Given the description of an element on the screen output the (x, y) to click on. 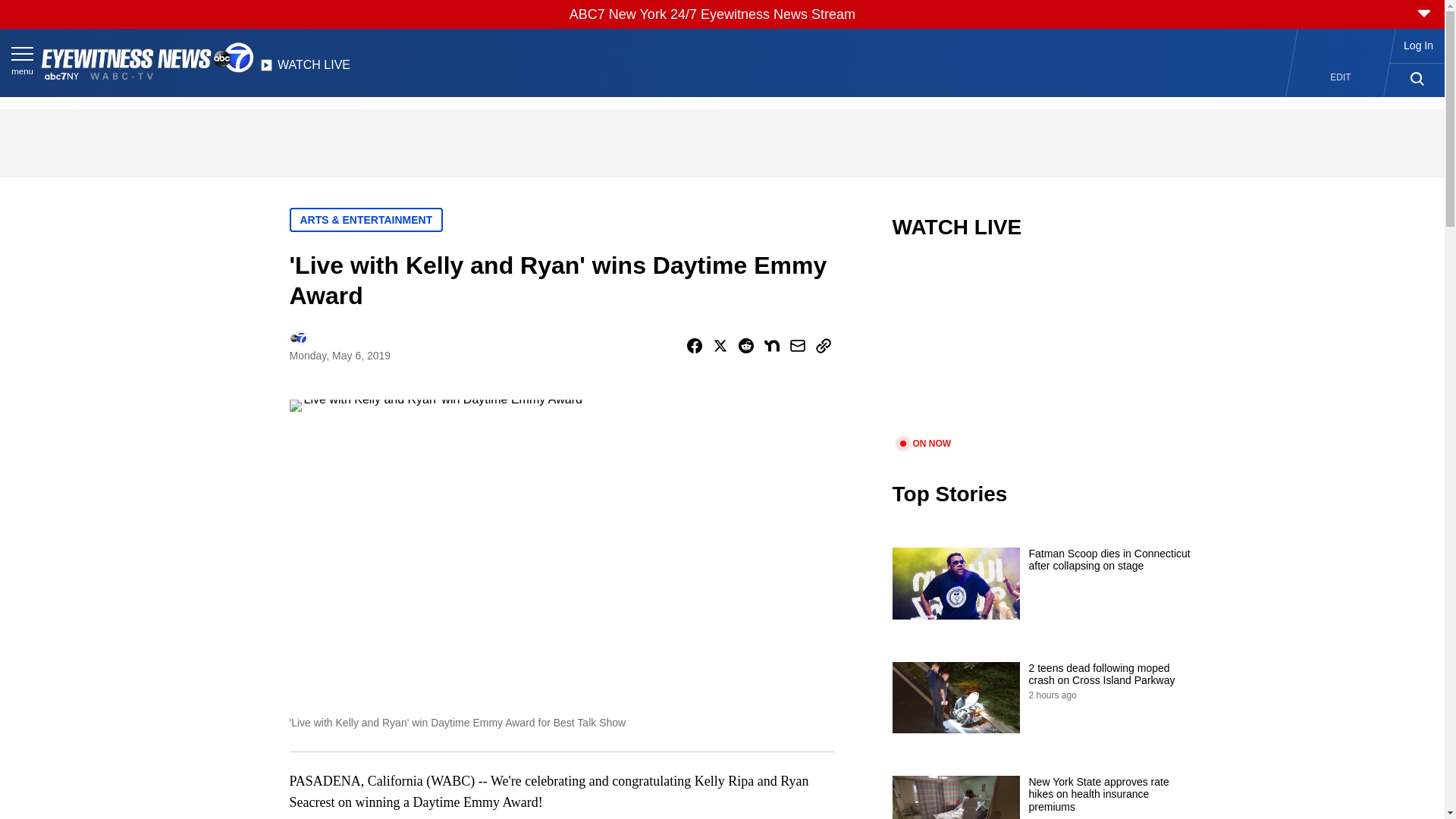
EDIT (1340, 77)
video.title (1043, 347)
WATCH LIVE (305, 69)
